Given the description of an element on the screen output the (x, y) to click on. 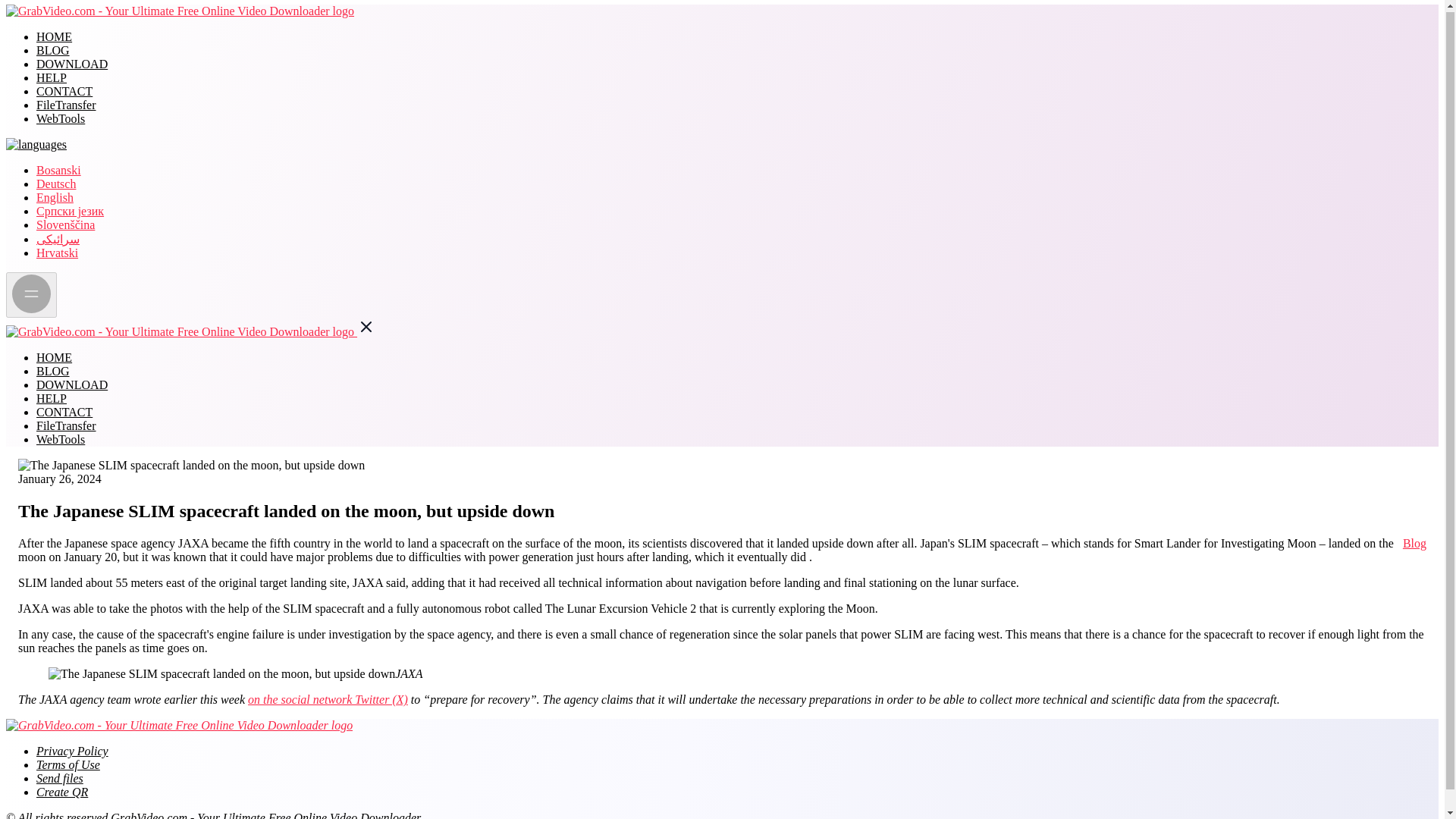
WebTools (60, 439)
Send files (59, 778)
Blog (1414, 543)
HOME (53, 357)
CONTACT (64, 91)
Deutsch (55, 183)
BLOG (52, 50)
DOWNLOAD (71, 384)
CONTACT (64, 411)
WebTools (60, 118)
HELP (51, 77)
HELP (51, 398)
FileTransfer (66, 104)
Hrvatski (57, 252)
Create QR (61, 791)
